Given the description of an element on the screen output the (x, y) to click on. 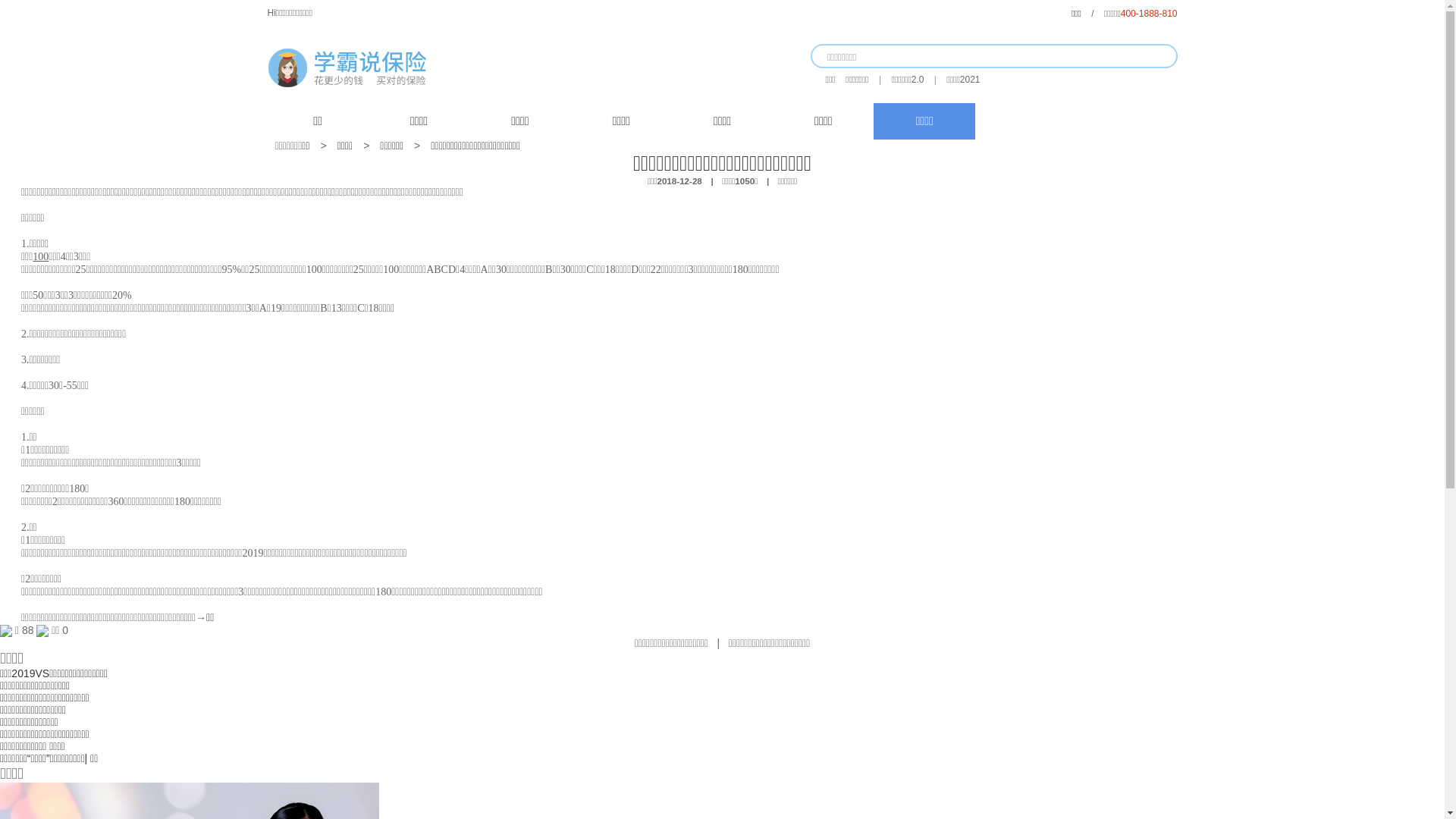
100 Element type: text (40, 256)
